Given the description of an element on the screen output the (x, y) to click on. 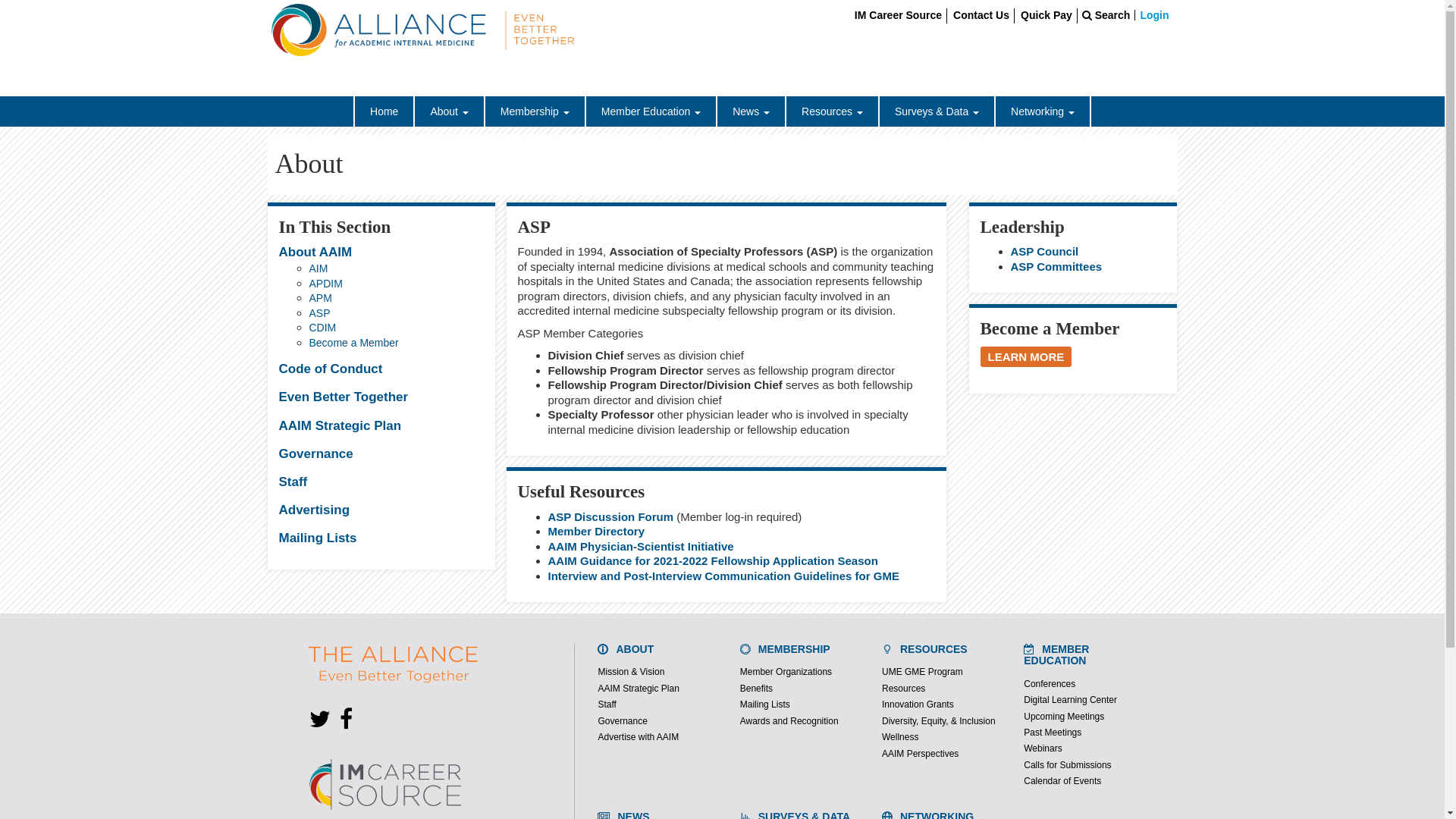
Join the Alliance (1025, 356)
Home (383, 111)
How to get in contact with us (983, 15)
Quick Pay (1048, 15)
Login (1153, 14)
IM Career Source (900, 15)
Contact Us (983, 15)
Council (1044, 250)
About (448, 111)
